Given the description of an element on the screen output the (x, y) to click on. 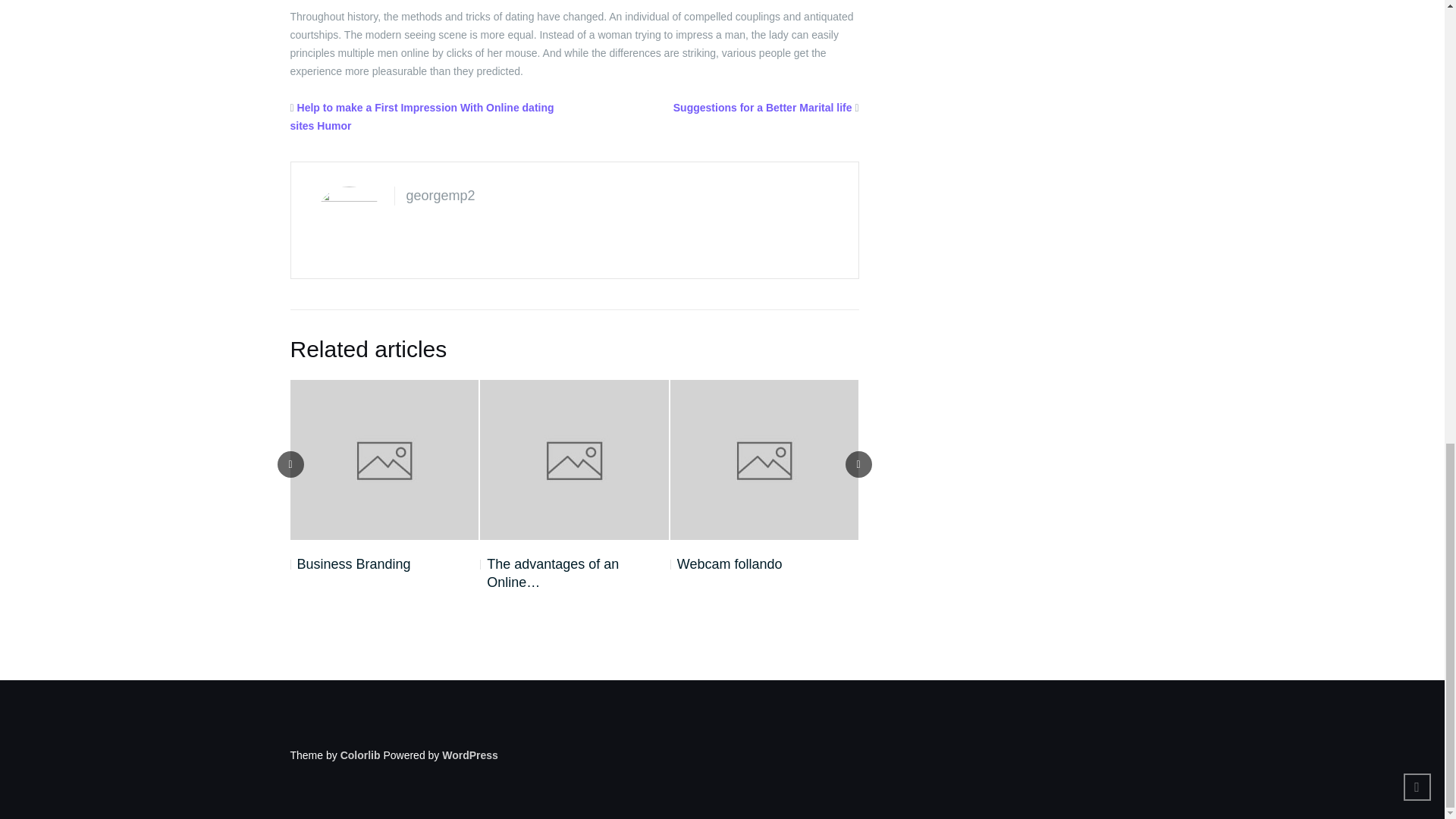
Webcam follando (726, 564)
Colorlib (360, 755)
Suggestions for a Better Marital life (761, 107)
WordPress.org (469, 755)
Business Branding (349, 564)
